Given the description of an element on the screen output the (x, y) to click on. 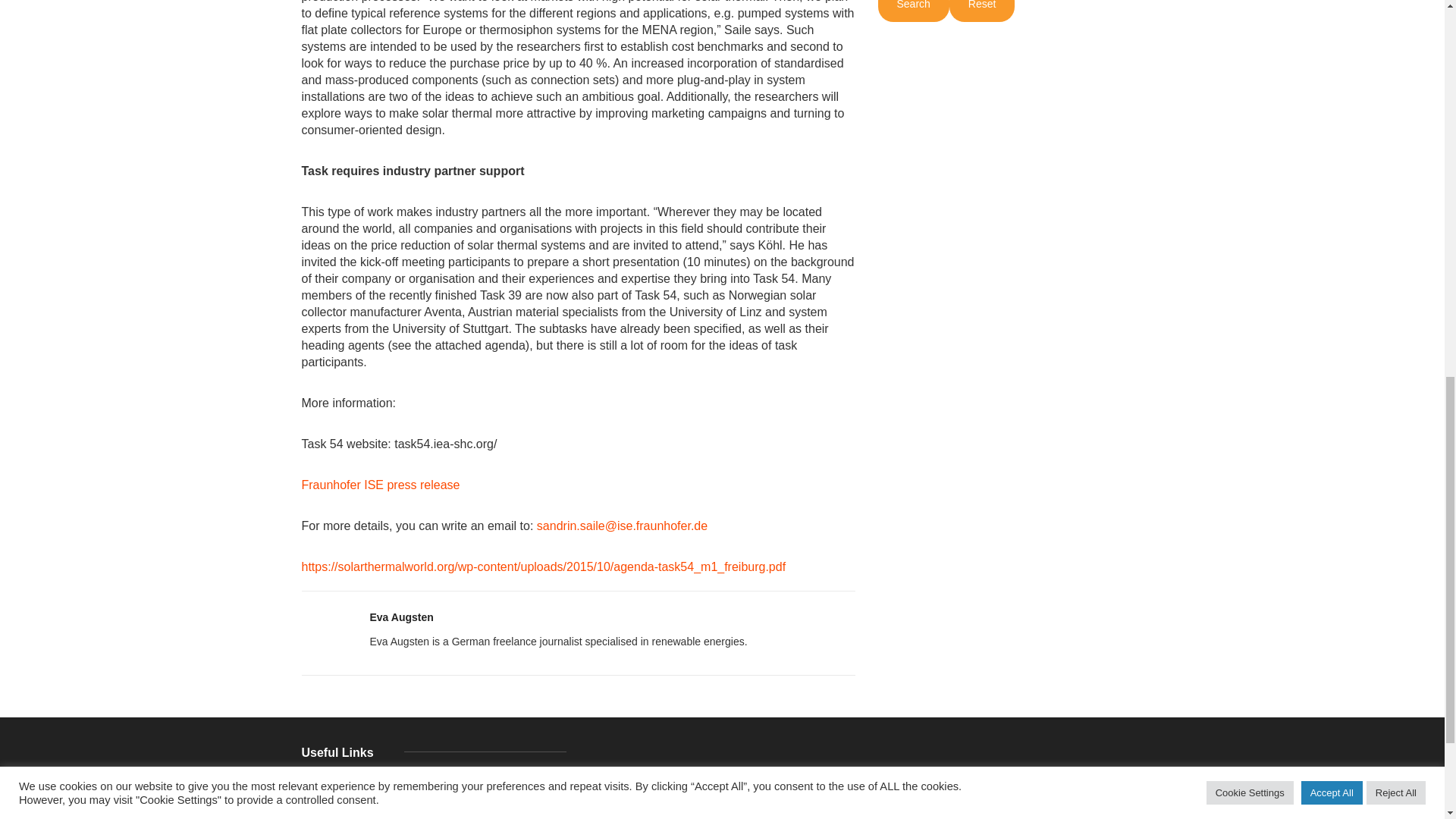
Search (913, 11)
Disclaimer (356, 816)
Fraunhofer ISE press release  (382, 484)
Search (913, 11)
Reset (981, 11)
Reset (981, 11)
Reset (981, 11)
Contact us (356, 802)
